Given the description of an element on the screen output the (x, y) to click on. 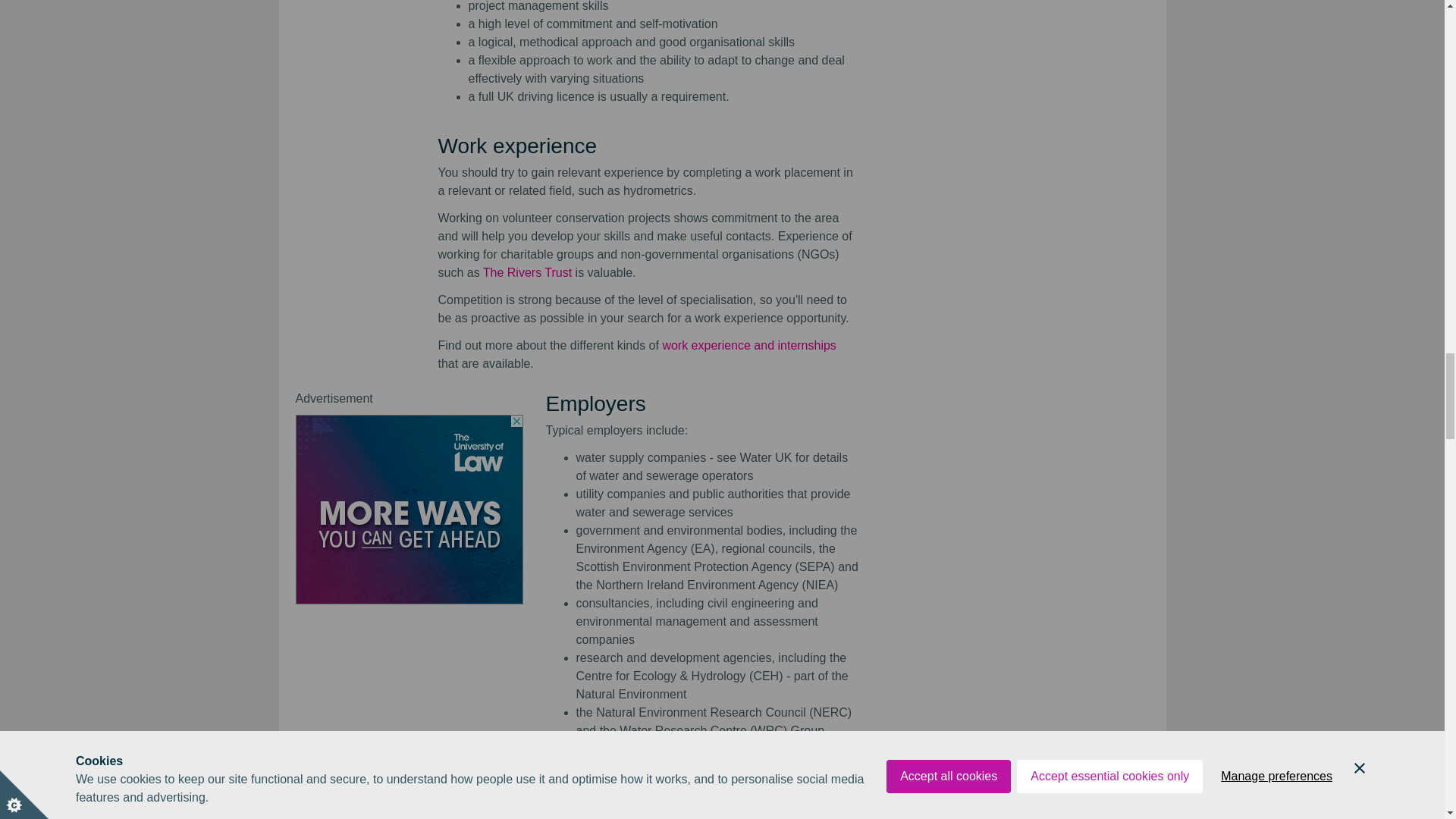
3rd party ad content (408, 509)
